Given the description of an element on the screen output the (x, y) to click on. 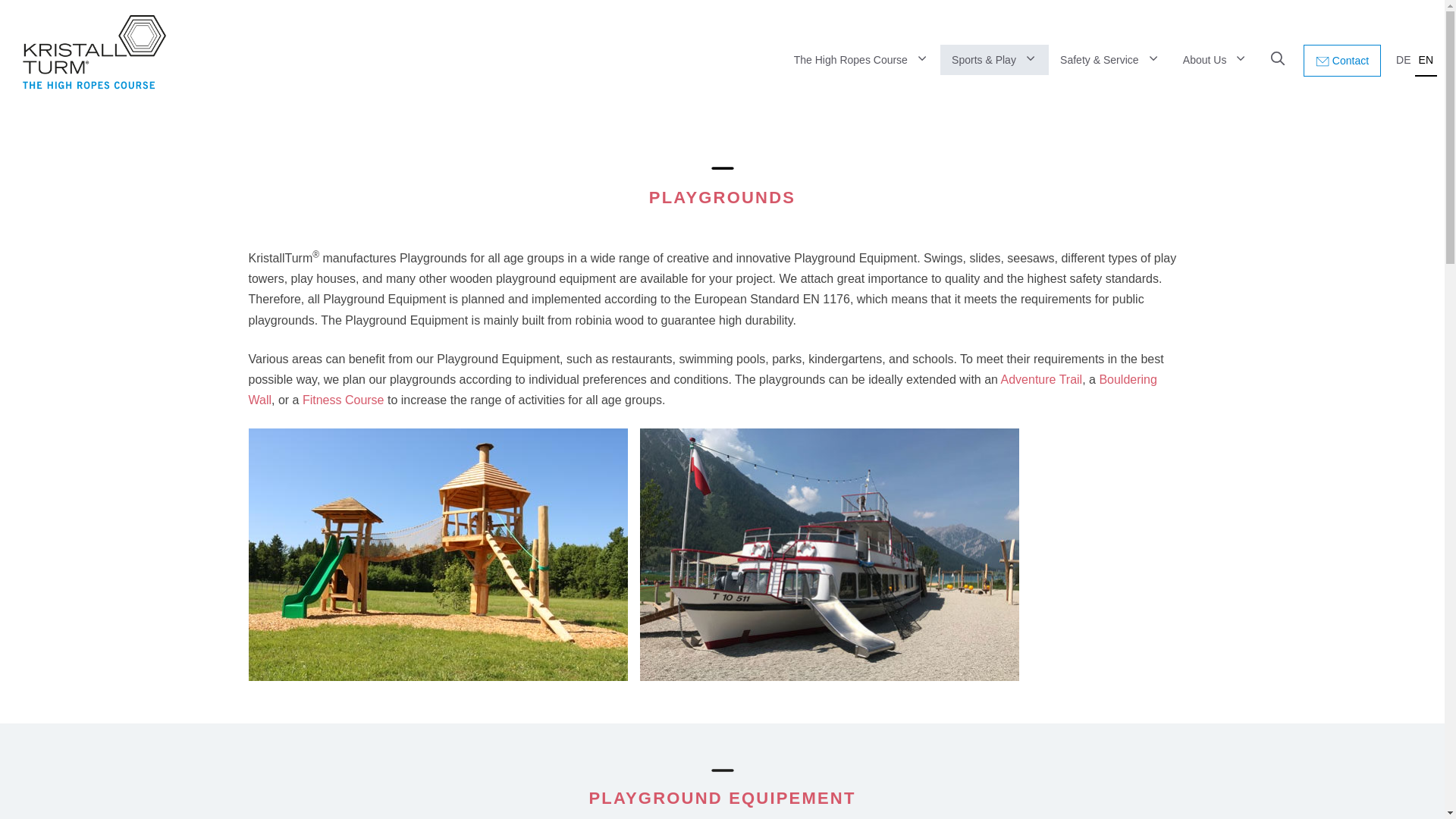
Kristallturm (90, 52)
The High Ropes Course (861, 60)
About Us (1215, 60)
Kristallturm (94, 52)
